Given the description of an element on the screen output the (x, y) to click on. 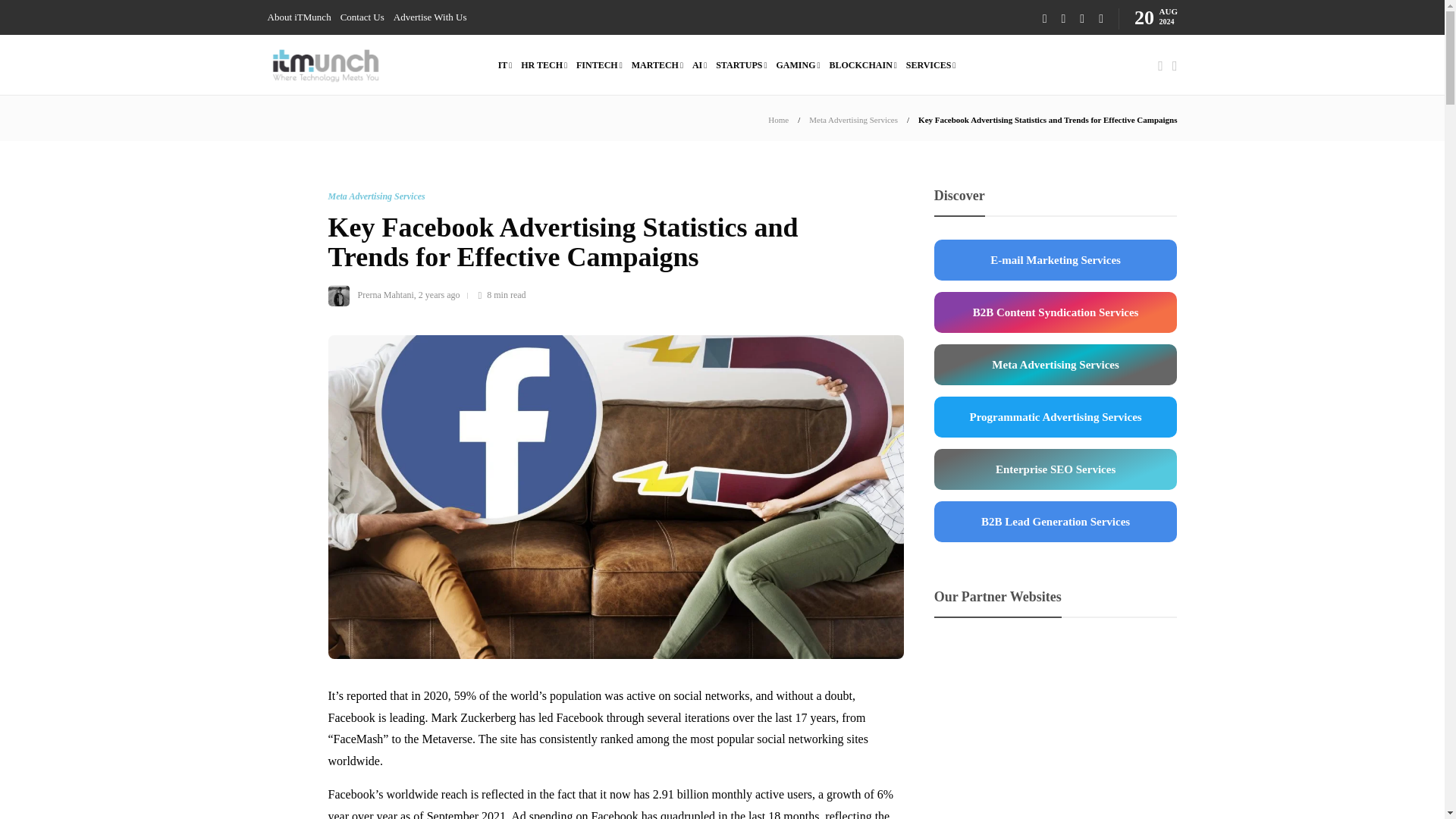
Contact Us (362, 17)
Home (778, 119)
Advertise With Us (430, 17)
About iTMunch (298, 17)
